Given the description of an element on the screen output the (x, y) to click on. 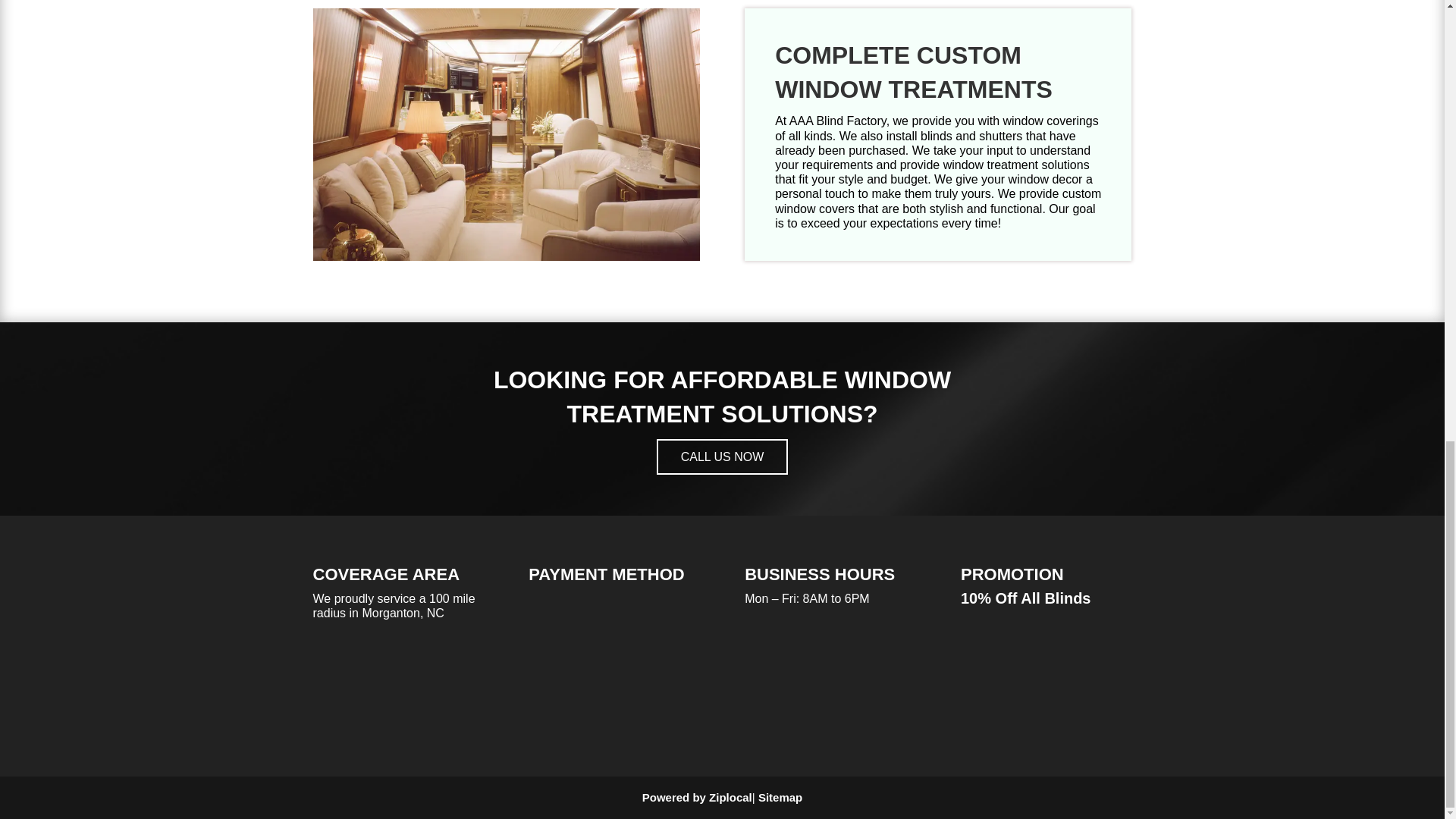
Sitemap (780, 797)
Powered by Ziplocal (697, 797)
CALL US NOW (722, 456)
